Given the description of an element on the screen output the (x, y) to click on. 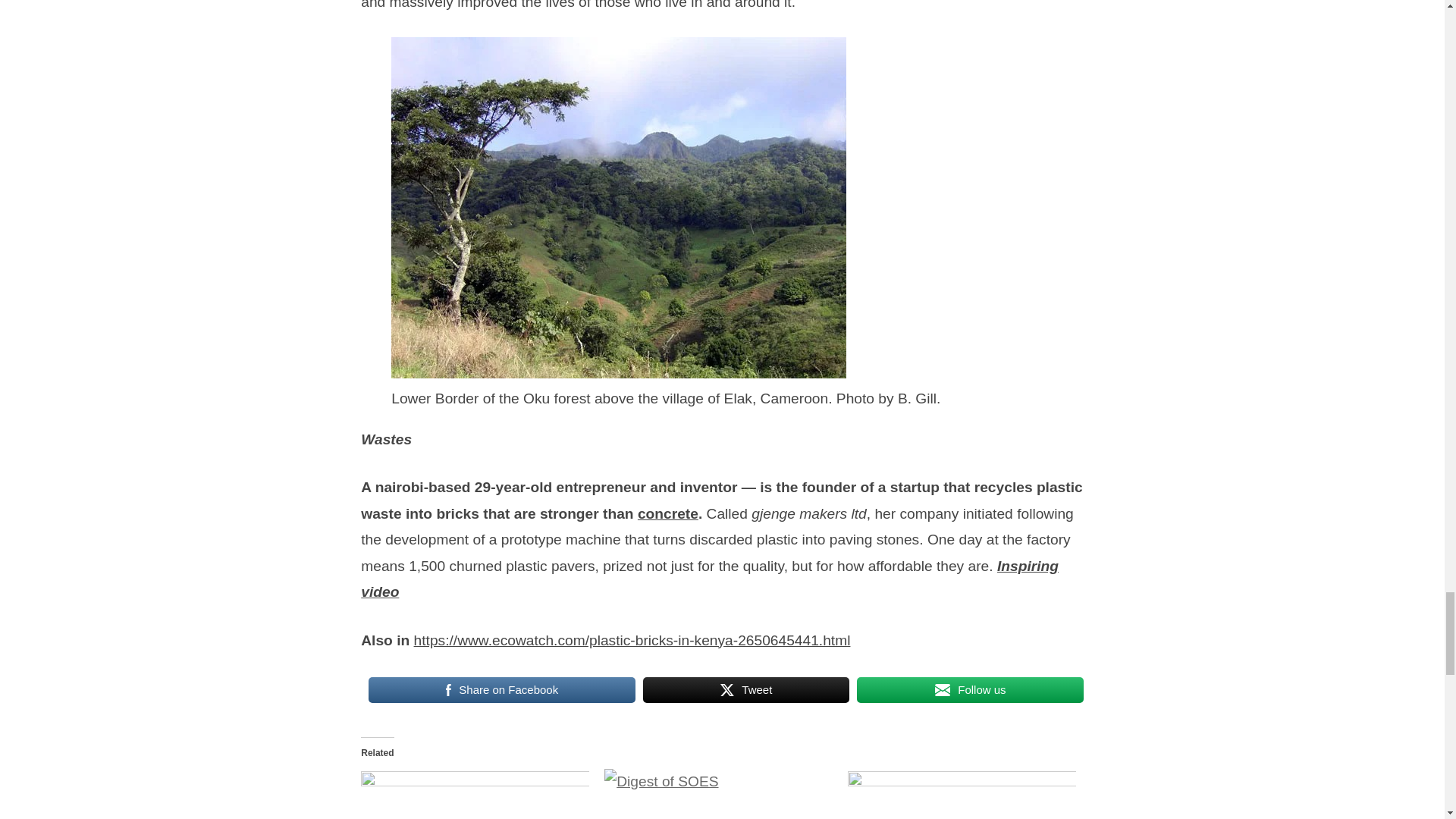
Inspiring video (709, 578)
Share on Facebook (501, 689)
concrete (667, 512)
Follow us (970, 689)
Digest of Socio-Ecological Union International (718, 794)
Tweet (745, 689)
Our Planet, Our Future: SEU Didgest, No21 (961, 794)
